Given the description of an element on the screen output the (x, y) to click on. 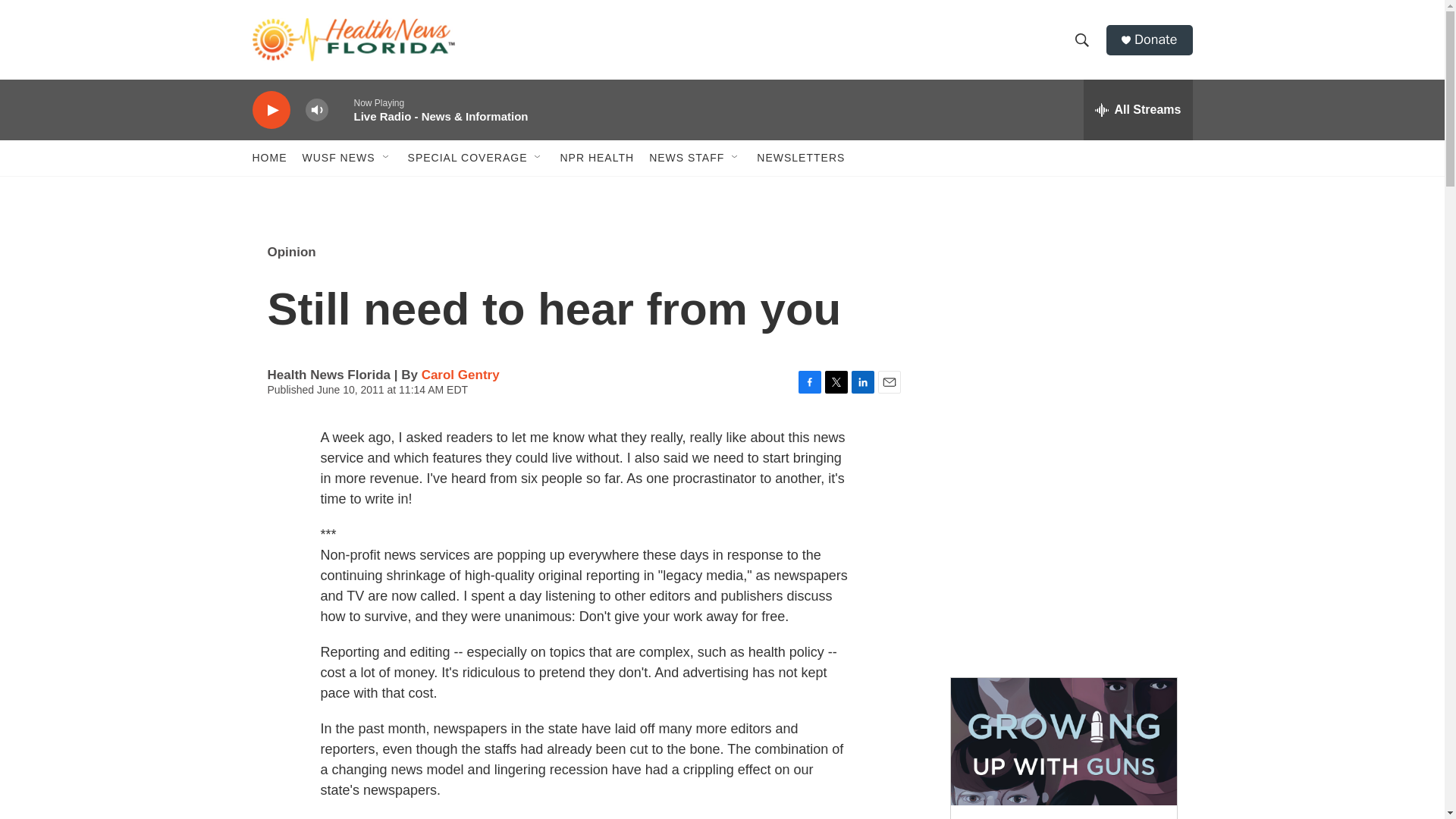
3rd party ad content (1062, 552)
3rd party ad content (1062, 331)
